Given the description of an element on the screen output the (x, y) to click on. 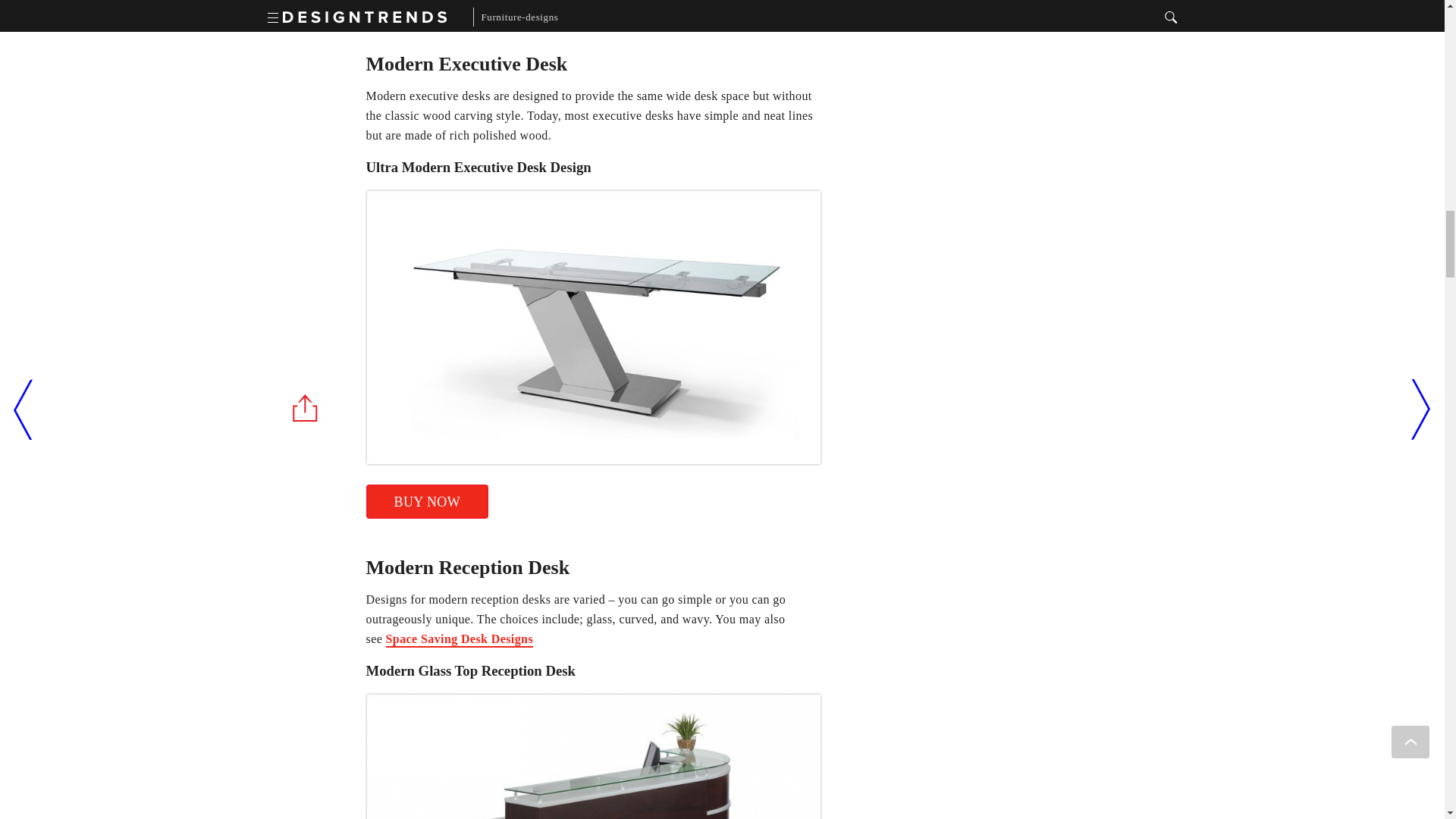
Space Saving Desk Designs (458, 639)
BUY NOW (426, 501)
BUY NOW (426, 7)
